Given the description of an element on the screen output the (x, y) to click on. 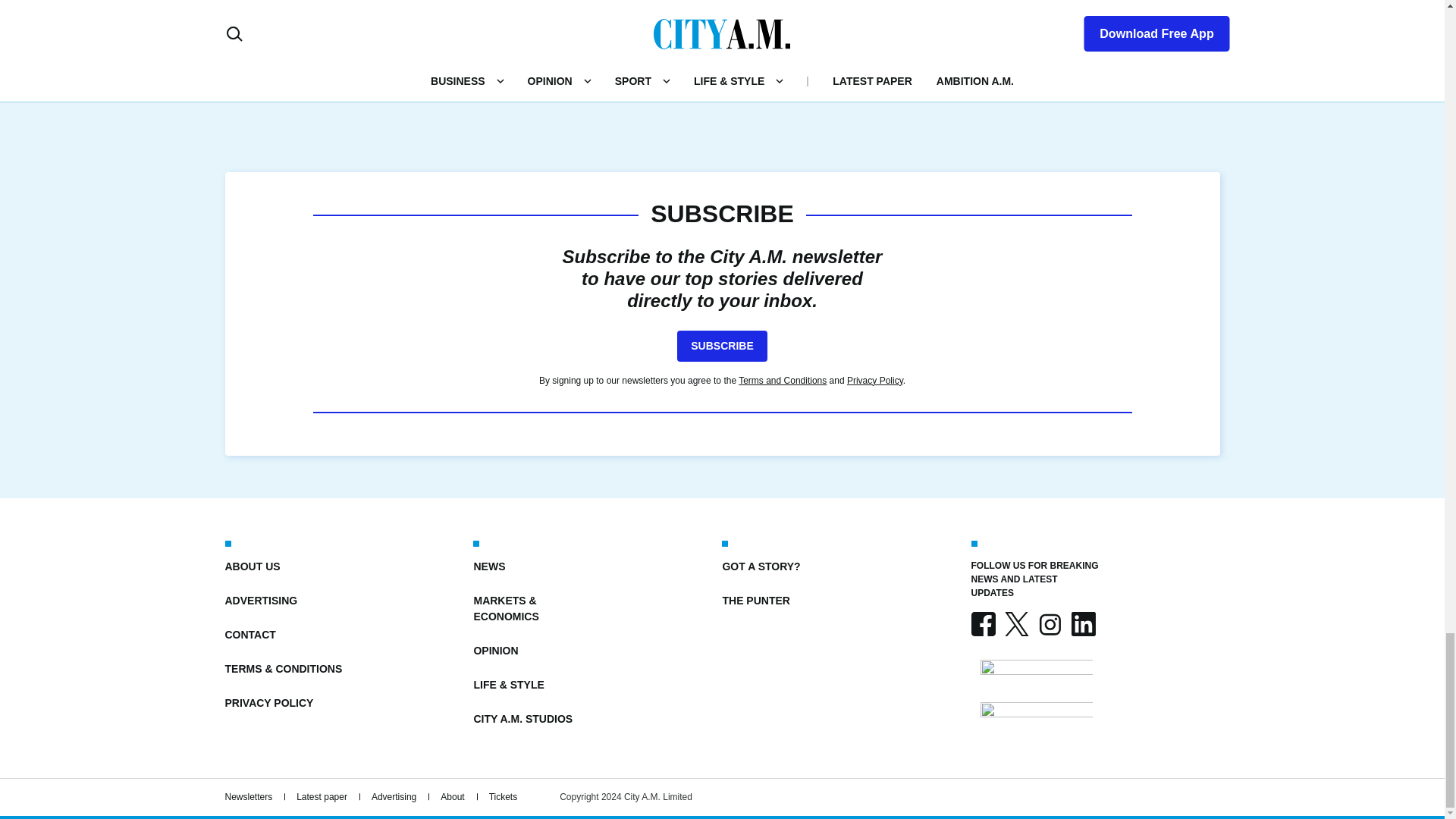
X (1015, 623)
INSTAGRAM (1048, 623)
LINKEDIN (1082, 623)
FACEBOOK (982, 623)
